Given the description of an element on the screen output the (x, y) to click on. 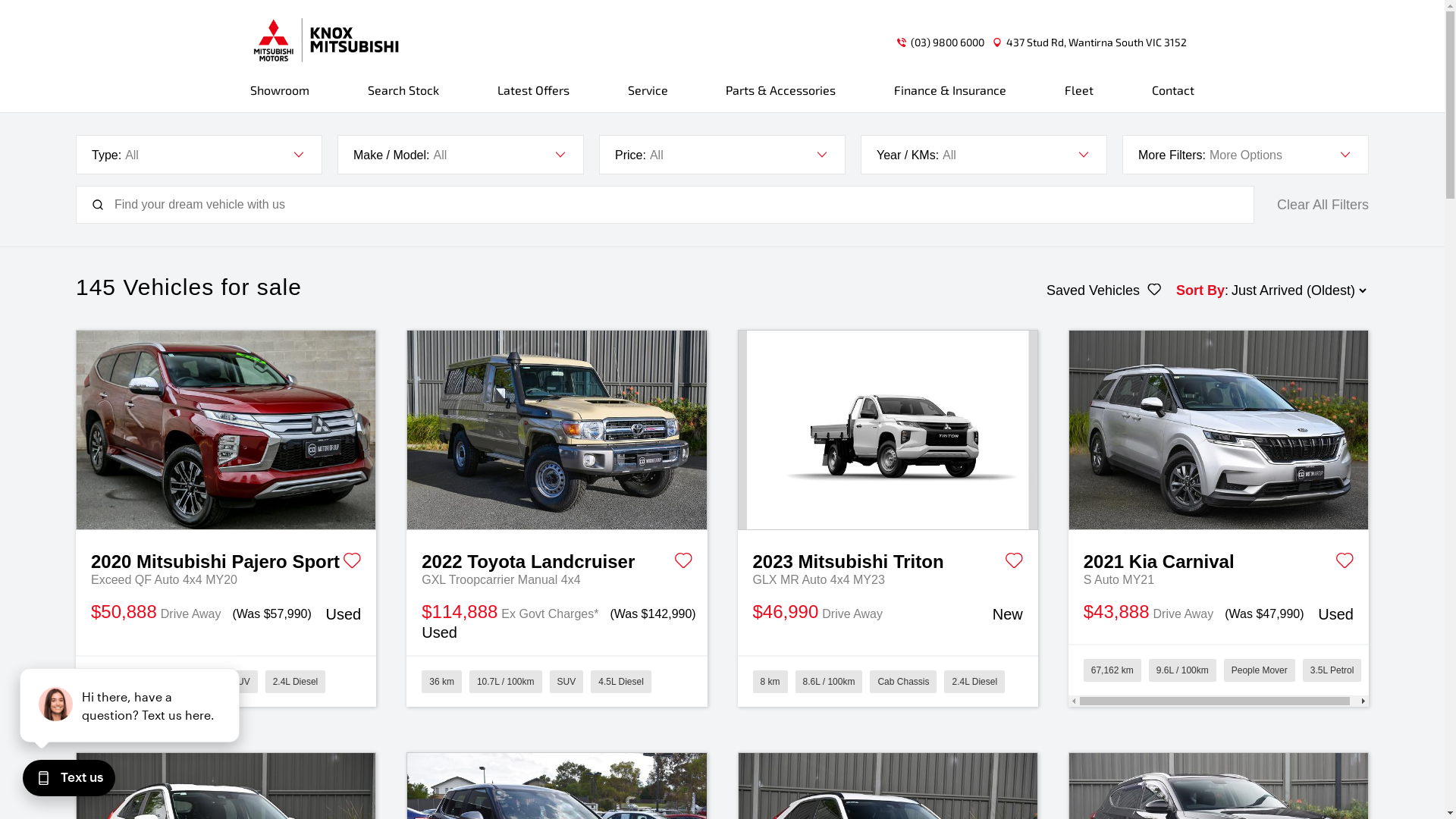
Save Vehicle Element type: hover (1344, 563)
Finance & Insurance Element type: text (949, 96)
437 Stud Rd, Wantirna South VIC 3152 Element type: text (1096, 42)
$114,888
Ex Govt Charges*
(Was $142,990)
Used Element type: text (556, 622)
2023 Mitsubishi Triton
GLX MR Auto 4x4 MY23 Element type: text (887, 559)
2022 Toyota Landcruiser GXL Troopcarrier Manual 4x4 Element type: hover (556, 430)
36 km
10.7L / 100km
SUV
4.5L Diesel Element type: text (556, 680)
2021 Kia Carnival
S Auto MY21 Element type: text (1218, 559)
56,376 km
8L / 100km
SUV
2.4L Diesel Element type: text (225, 680)
Save Vehicle Element type: hover (351, 563)
$50,888
Drive Away
(Was $57,990)
Used Element type: text (225, 613)
$43,888
Drive Away
(Was $47,990)
Used Element type: text (1218, 613)
$46,990
Drive Away
New Element type: text (887, 613)
podium webchat widget prompt Element type: hover (128, 705)
Fleet Element type: text (1079, 96)
Save Vehicle Element type: hover (1013, 563)
2023 Mitsubishi Triton GLX MR Auto 4x4 MY23 Element type: hover (887, 430)
Showroom Element type: text (283, 96)
(03) 9800 6000 Element type: text (947, 42)
Contact Element type: text (1169, 96)
2021 Kia Carnival S Auto MY21 Element type: hover (1218, 430)
8 km
8.6L / 100km
Cab Chassis
2.4L Diesel Element type: text (887, 680)
2022 Toyota Landcruiser
GXL Troopcarrier Manual 4x4 Element type: text (556, 559)
Parts & Accessories Element type: text (780, 96)
Latest Offers Element type: text (533, 96)
Saved Vehicles Element type: text (1103, 290)
Service Element type: text (647, 96)
Search Stock Element type: text (403, 96)
67,162 km
9.6L / 100km
People Mover
3.5L Petrol Element type: text (1218, 674)
Clear All Filters Element type: text (1322, 205)
Save Vehicle Element type: hover (682, 563)
2020 Mitsubishi Pajero Sport Exceed QF Auto 4x4 MY20 Element type: hover (225, 430)
2020 Mitsubishi Pajero Sport
Exceed QF Auto 4x4 MY20 Element type: text (225, 559)
